Given the description of an element on the screen output the (x, y) to click on. 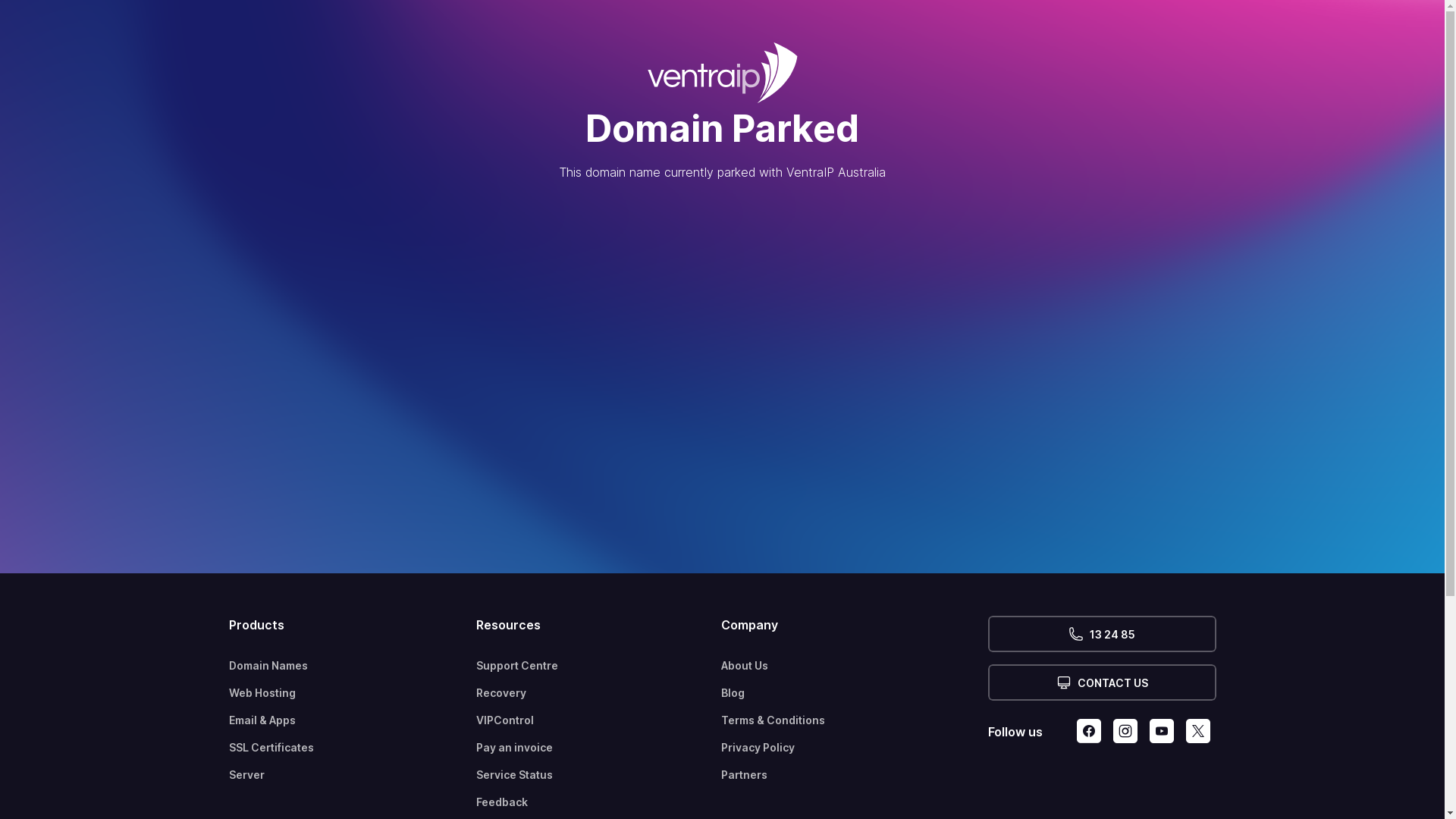
VIPControl Element type: text (598, 720)
Privacy Policy Element type: text (854, 747)
Blog Element type: text (854, 692)
Email & Apps Element type: text (352, 720)
Service Status Element type: text (598, 774)
Terms & Conditions Element type: text (854, 720)
Domain Names Element type: text (352, 665)
SSL Certificates Element type: text (352, 747)
Partners Element type: text (854, 774)
Web Hosting Element type: text (352, 692)
CONTACT US Element type: text (1101, 682)
Support Centre Element type: text (598, 665)
Recovery Element type: text (598, 692)
Feedback Element type: text (598, 801)
Server Element type: text (352, 774)
About Us Element type: text (854, 665)
13 24 85 Element type: text (1101, 633)
Pay an invoice Element type: text (598, 747)
